Given the description of an element on the screen output the (x, y) to click on. 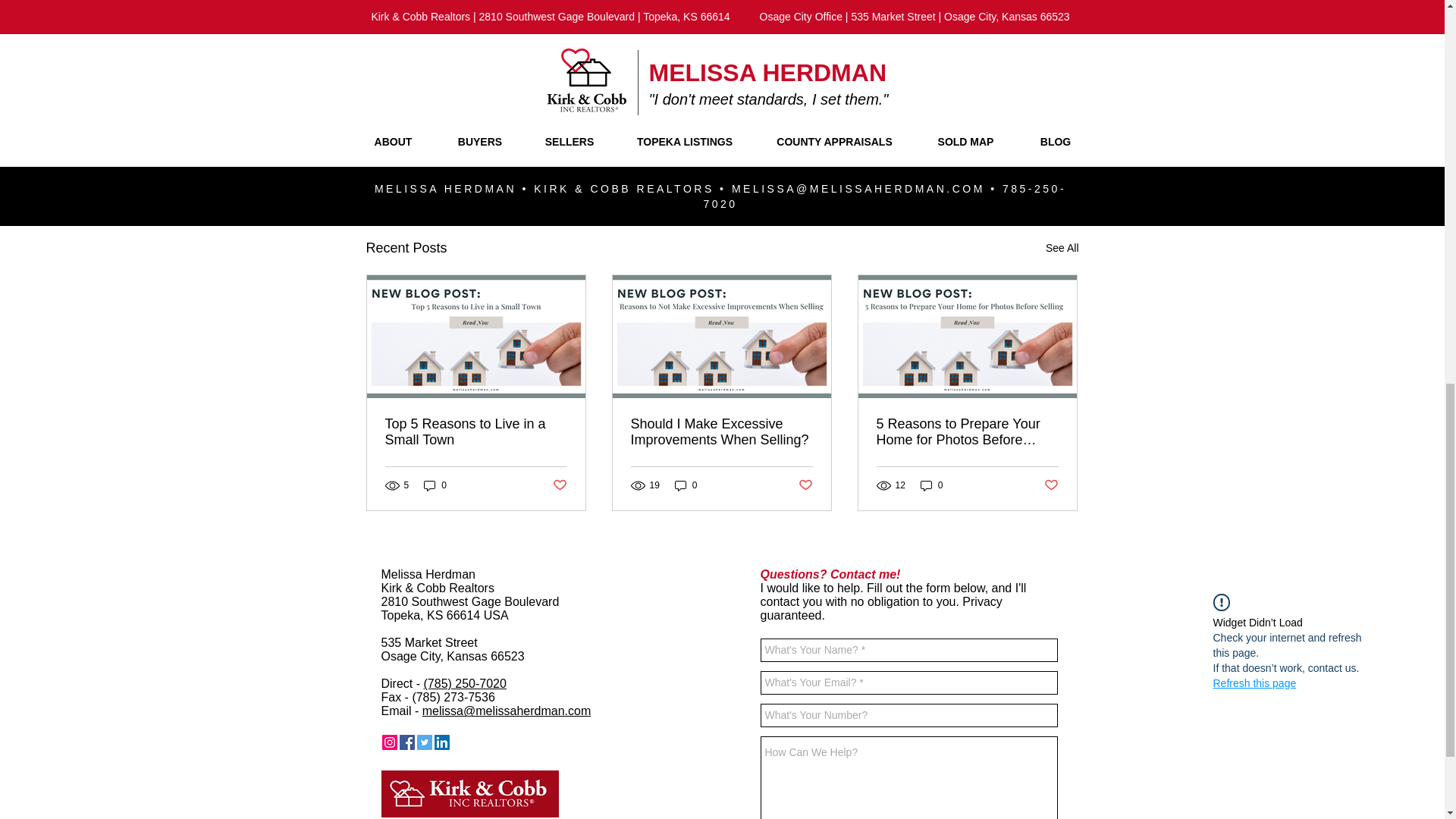
Top 5 Reasons to Live in a Small Town (476, 431)
See All (1061, 248)
Post not marked as liked (995, 165)
Pin to Pinterest (472, 742)
0 (435, 485)
